Given the description of an element on the screen output the (x, y) to click on. 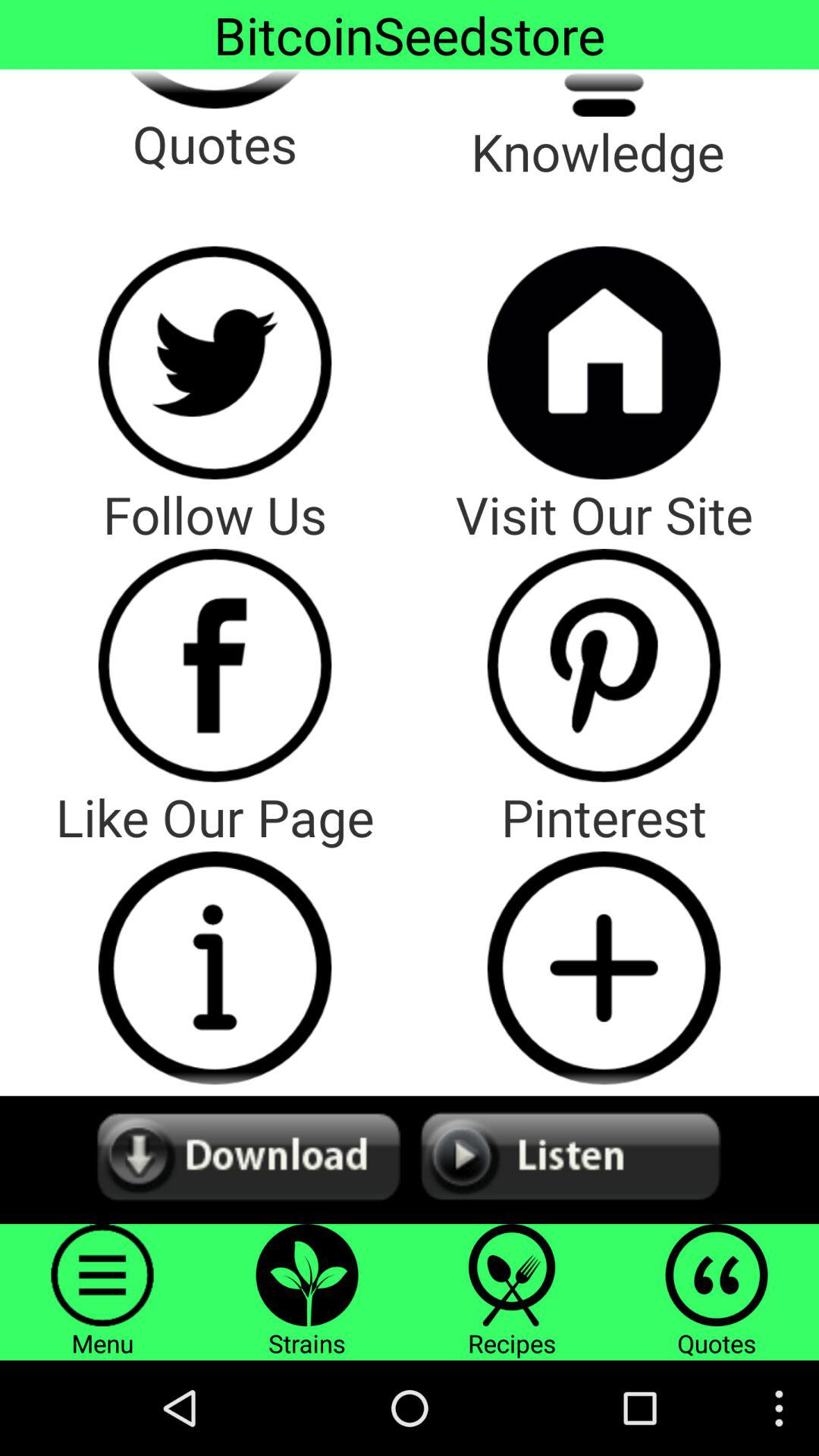
pin to pinterest (603, 967)
